Given the description of an element on the screen output the (x, y) to click on. 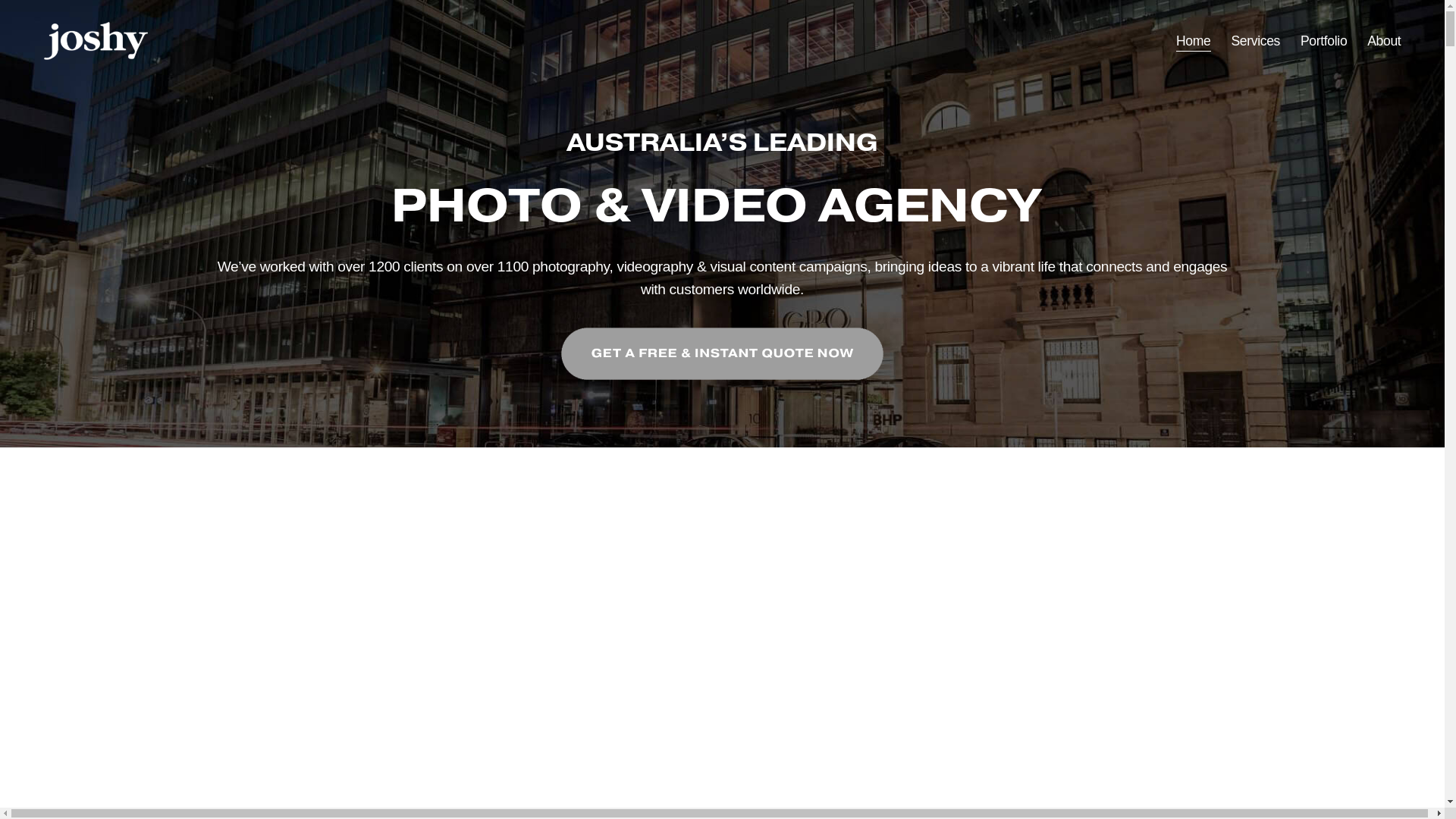
Home Element type: text (1193, 40)
Portfolio Element type: text (1323, 40)
Services Element type: text (1255, 40)
About Element type: text (1383, 40)
